Given the description of an element on the screen output the (x, y) to click on. 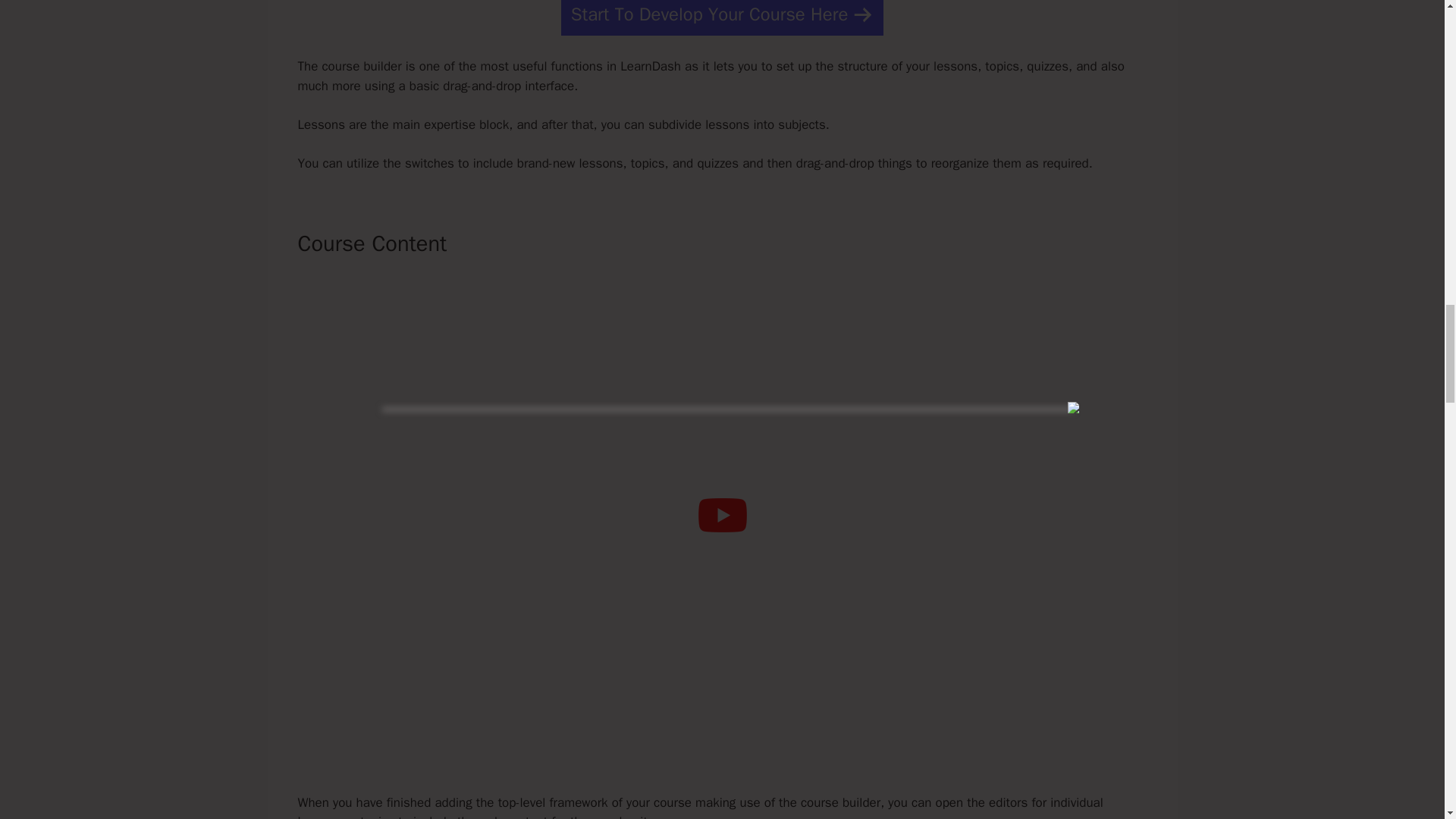
Start To Develop Your Course Here (721, 18)
